Given the description of an element on the screen output the (x, y) to click on. 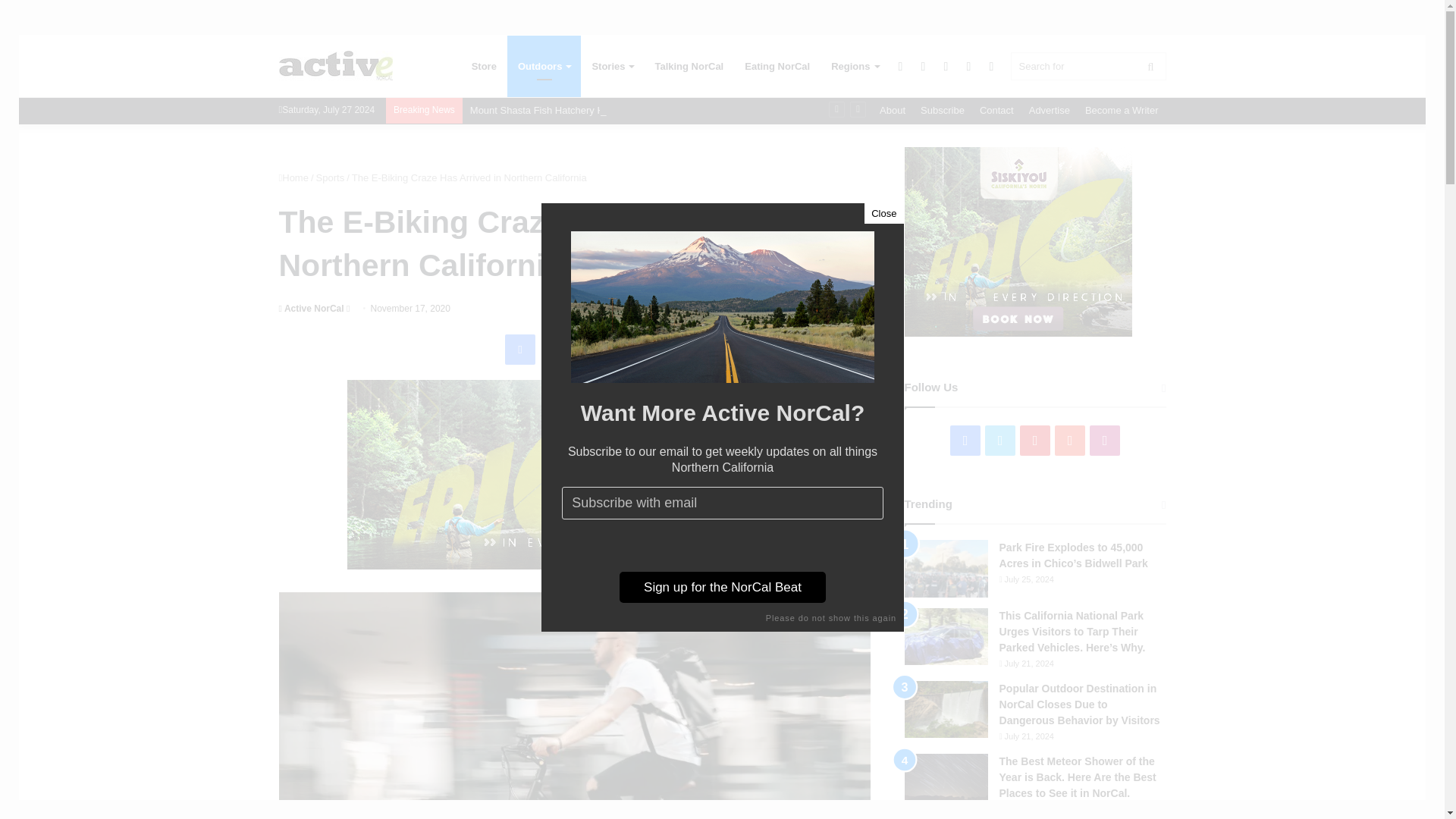
Become a Writer (1121, 110)
Mount Shasta Fish Hatchery Hosts Kids Fishing Day on July 20 (608, 110)
About (892, 110)
Contact (997, 110)
Outdoors (543, 66)
Discover Siskiyou 600X250 2023 (574, 474)
Sports (330, 177)
Search for (1088, 66)
Stories (611, 66)
Active NorCal (336, 65)
Pinterest (591, 349)
Regions (854, 66)
Facebook (520, 349)
Twitter (556, 349)
Reddit (627, 349)
